Given the description of an element on the screen output the (x, y) to click on. 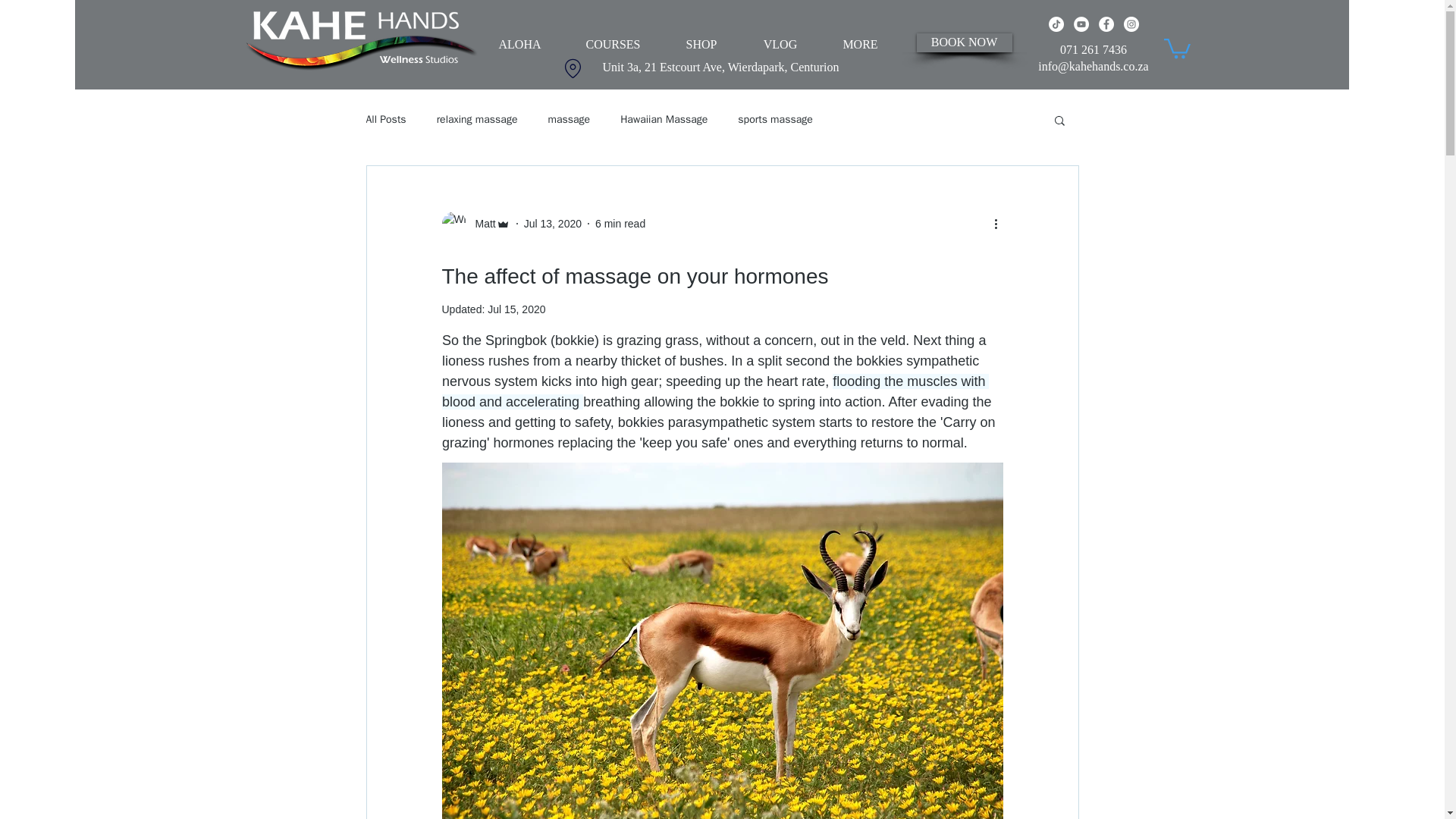
6 min read (620, 223)
COURSES (613, 44)
Jul 15, 2020 (515, 309)
VLOG (779, 44)
Jul 13, 2020 (552, 223)
SHOP (701, 44)
BOOK NOW (963, 42)
ALOHA (520, 44)
Matt (480, 223)
All Posts (385, 119)
